Given the description of an element on the screen output the (x, y) to click on. 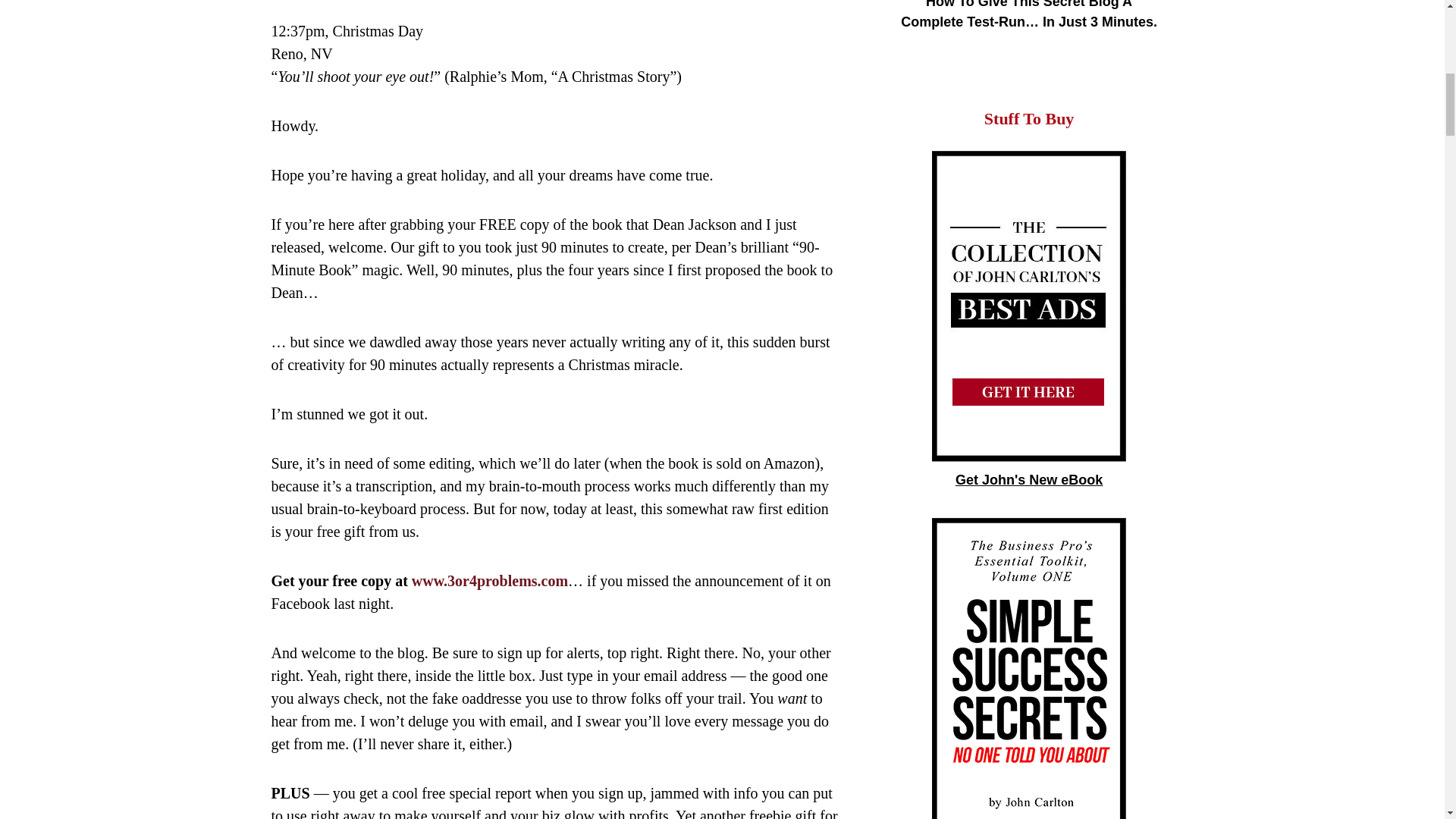
Get John's New eBook (1028, 479)
www.3or4problems.com (489, 580)
